Given the description of an element on the screen output the (x, y) to click on. 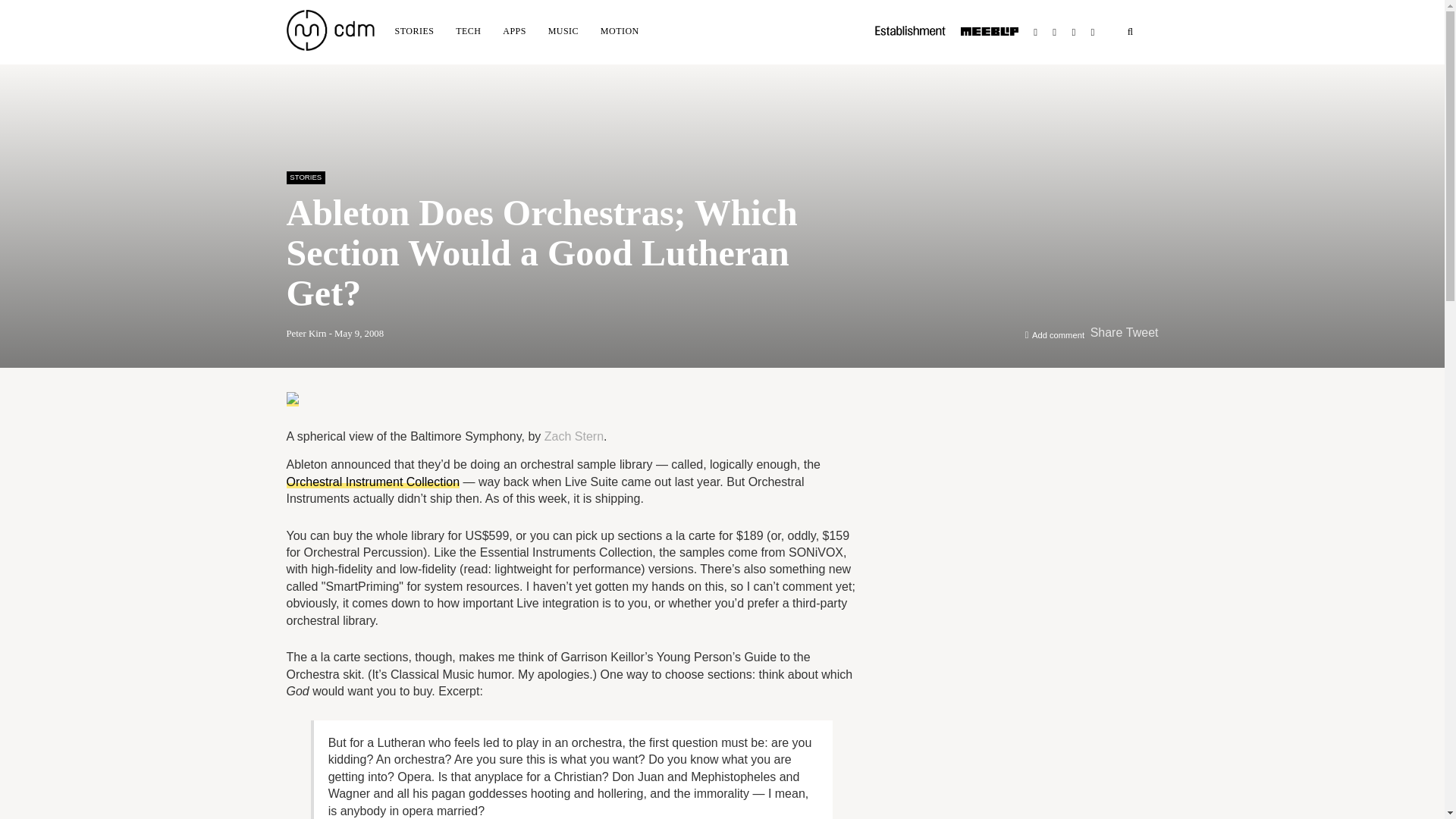
Zach Stern (574, 436)
Tweet (1141, 332)
STORIES (414, 30)
Share (1106, 332)
Orchestral Instrument Collection (373, 481)
MOTION (619, 30)
Add comment (1058, 334)
search (1130, 32)
STORIES (306, 177)
